Given the description of an element on the screen output the (x, y) to click on. 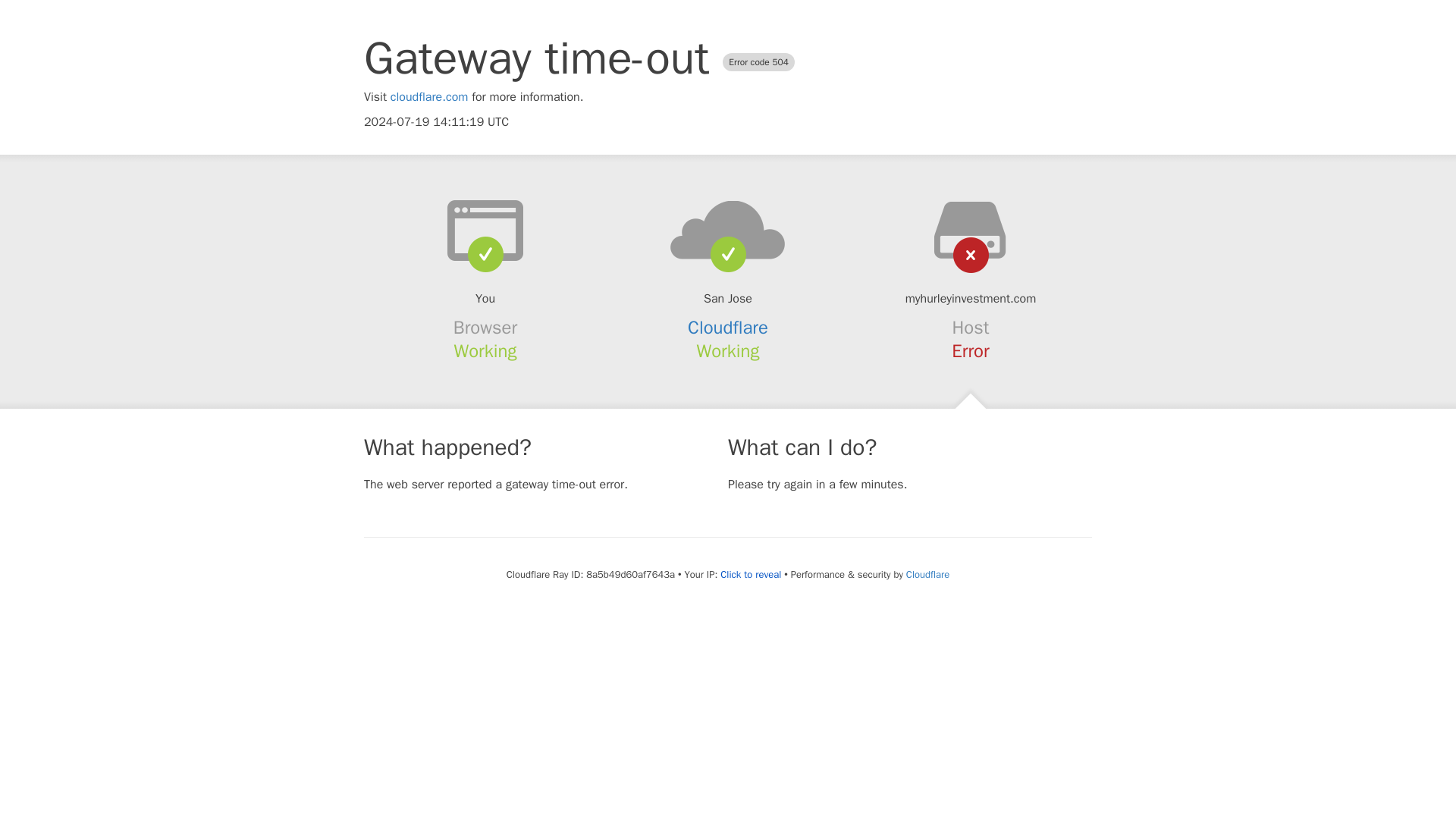
Cloudflare (927, 574)
cloudflare.com (429, 96)
Cloudflare (727, 327)
Click to reveal (750, 574)
